Given the description of an element on the screen output the (x, y) to click on. 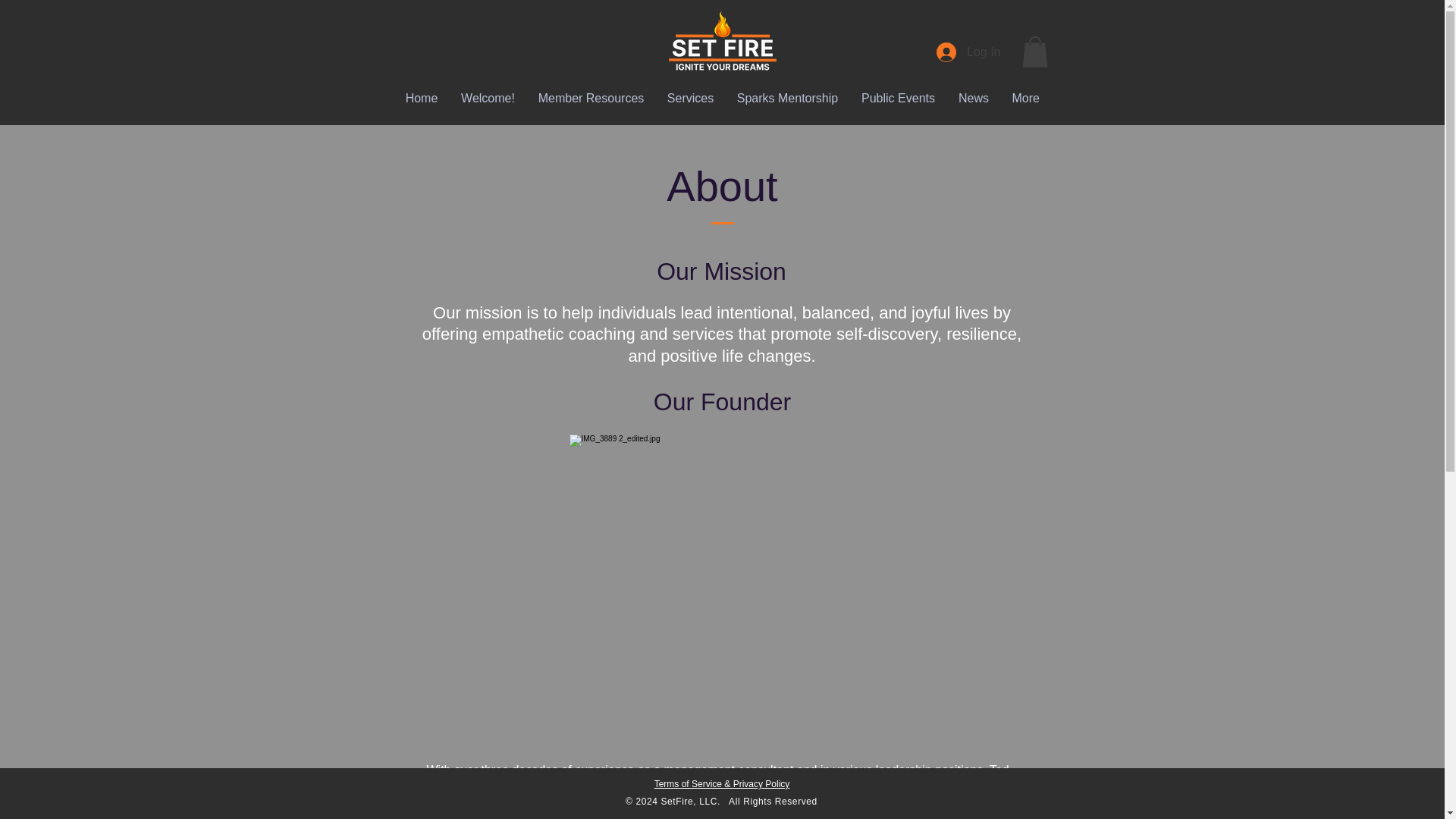
Home (421, 98)
Services (690, 98)
Welcome! (486, 98)
Member Resources (590, 98)
Sparks Mentorship (786, 98)
Log In (968, 51)
News (973, 98)
Public Events (897, 98)
